Given the description of an element on the screen output the (x, y) to click on. 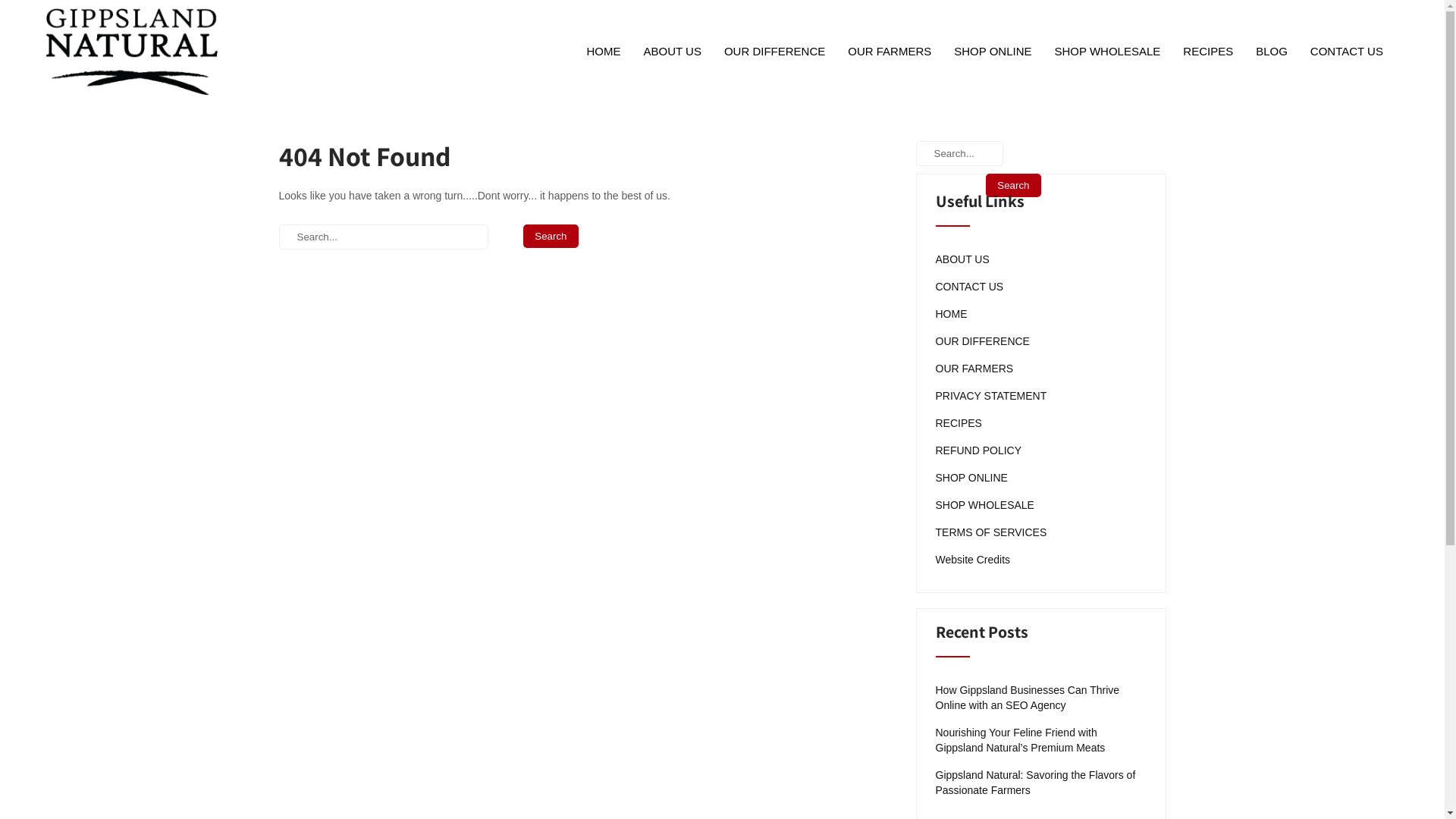
CONTACT US Element type: text (1346, 51)
RECIPES Element type: text (958, 422)
SHOP ONLINE Element type: text (992, 51)
BLOG Element type: text (1271, 51)
OUR FARMERS Element type: text (974, 368)
ABOUT US Element type: text (671, 51)
OUR DIFFERENCE Element type: text (982, 340)
RECIPES Element type: text (1207, 51)
ABOUT US Element type: text (962, 258)
TERMS OF SERVICES Element type: text (991, 531)
Search Element type: text (1012, 185)
HOME Element type: text (951, 313)
REFUND POLICY Element type: text (978, 450)
CONTACT US Element type: text (969, 286)
OUR DIFFERENCE Element type: text (774, 51)
SHOP WHOLESALE Element type: text (984, 504)
OUR FARMERS Element type: text (889, 51)
Search Element type: text (550, 235)
SHOP WHOLESALE Element type: text (1107, 51)
PRIVACY STATEMENT Element type: text (991, 395)
HOME Element type: text (602, 51)
SHOP ONLINE Element type: text (971, 477)
Website Credits Element type: text (972, 559)
